Given the description of an element on the screen output the (x, y) to click on. 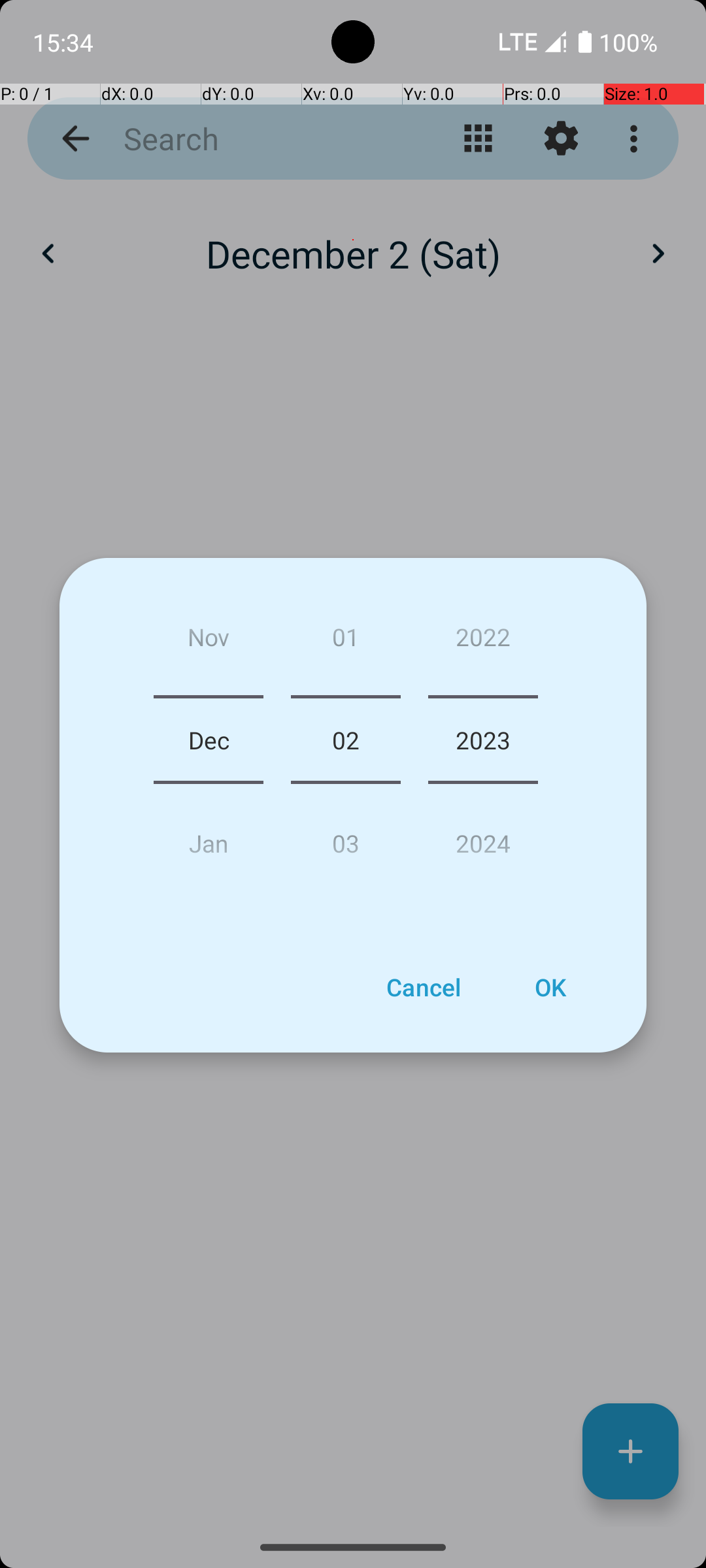
Dec Element type: android.widget.EditText (208, 739)
Jan Element type: android.widget.Button (208, 837)
01 Element type: android.widget.Button (345, 641)
02 Element type: android.widget.EditText (345, 739)
03 Element type: android.widget.Button (345, 837)
